Given the description of an element on the screen output the (x, y) to click on. 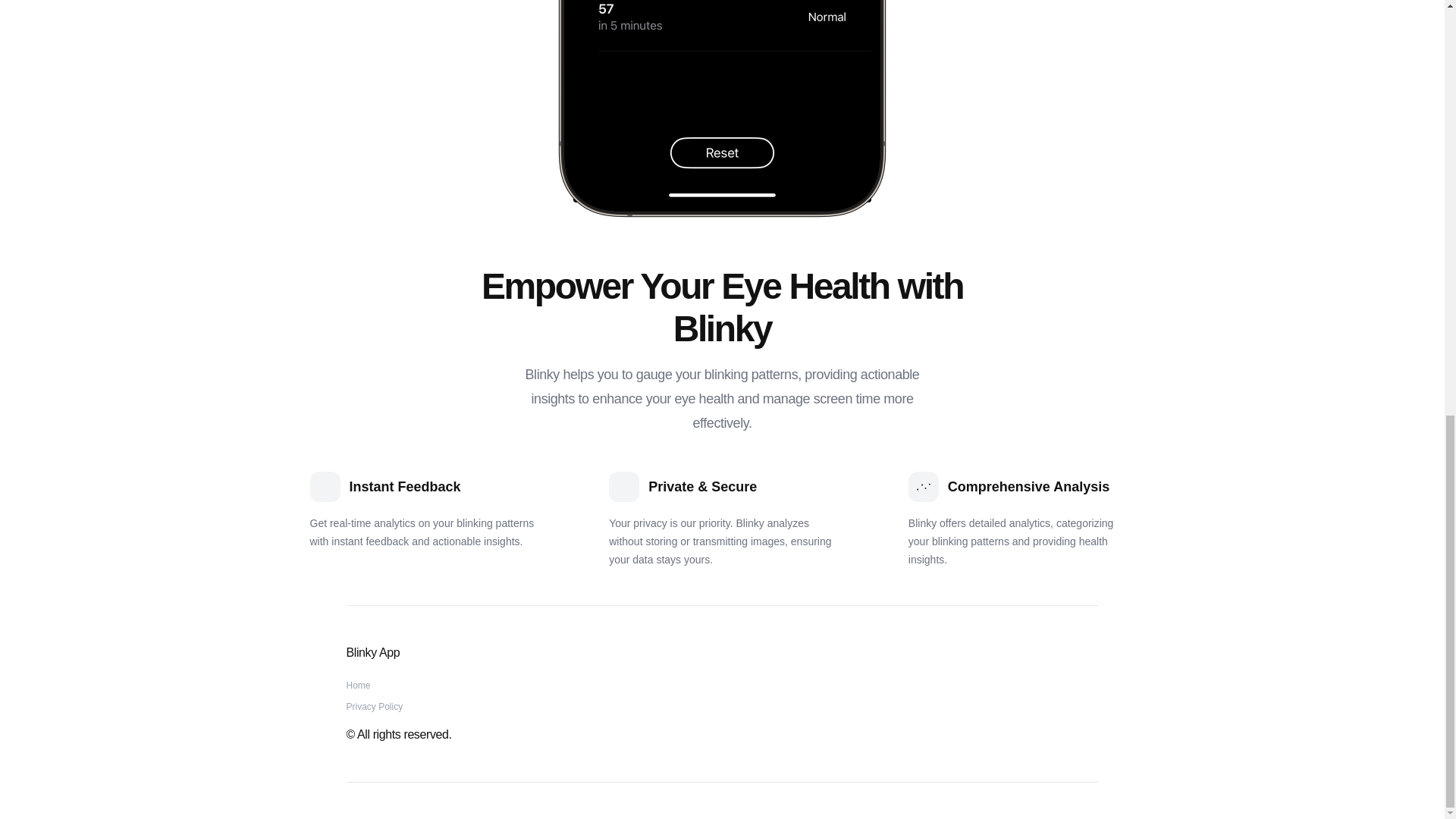
Privacy Policy (374, 706)
Home (357, 685)
